Given the description of an element on the screen output the (x, y) to click on. 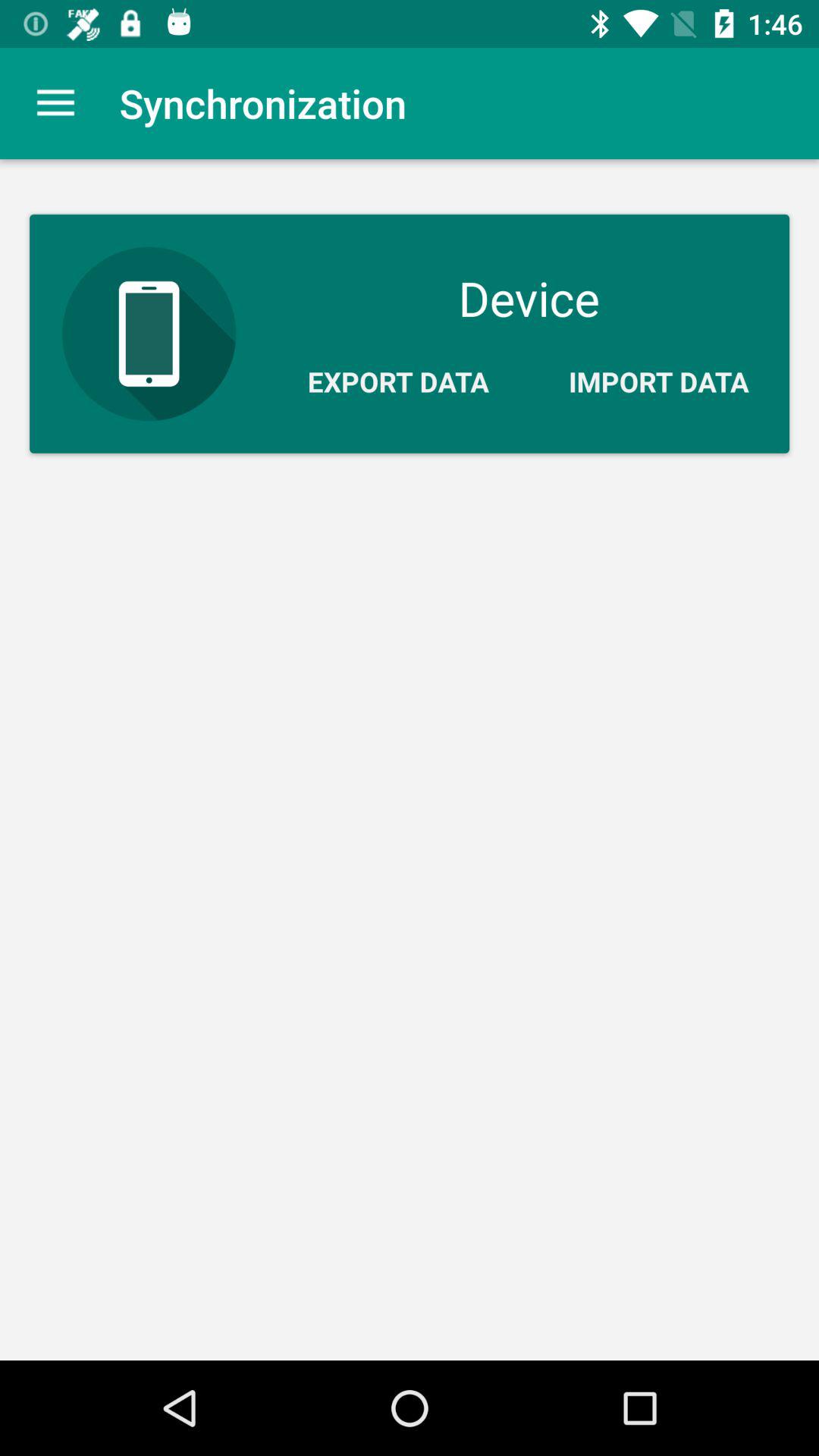
press item next to synchronization item (55, 103)
